Given the description of an element on the screen output the (x, y) to click on. 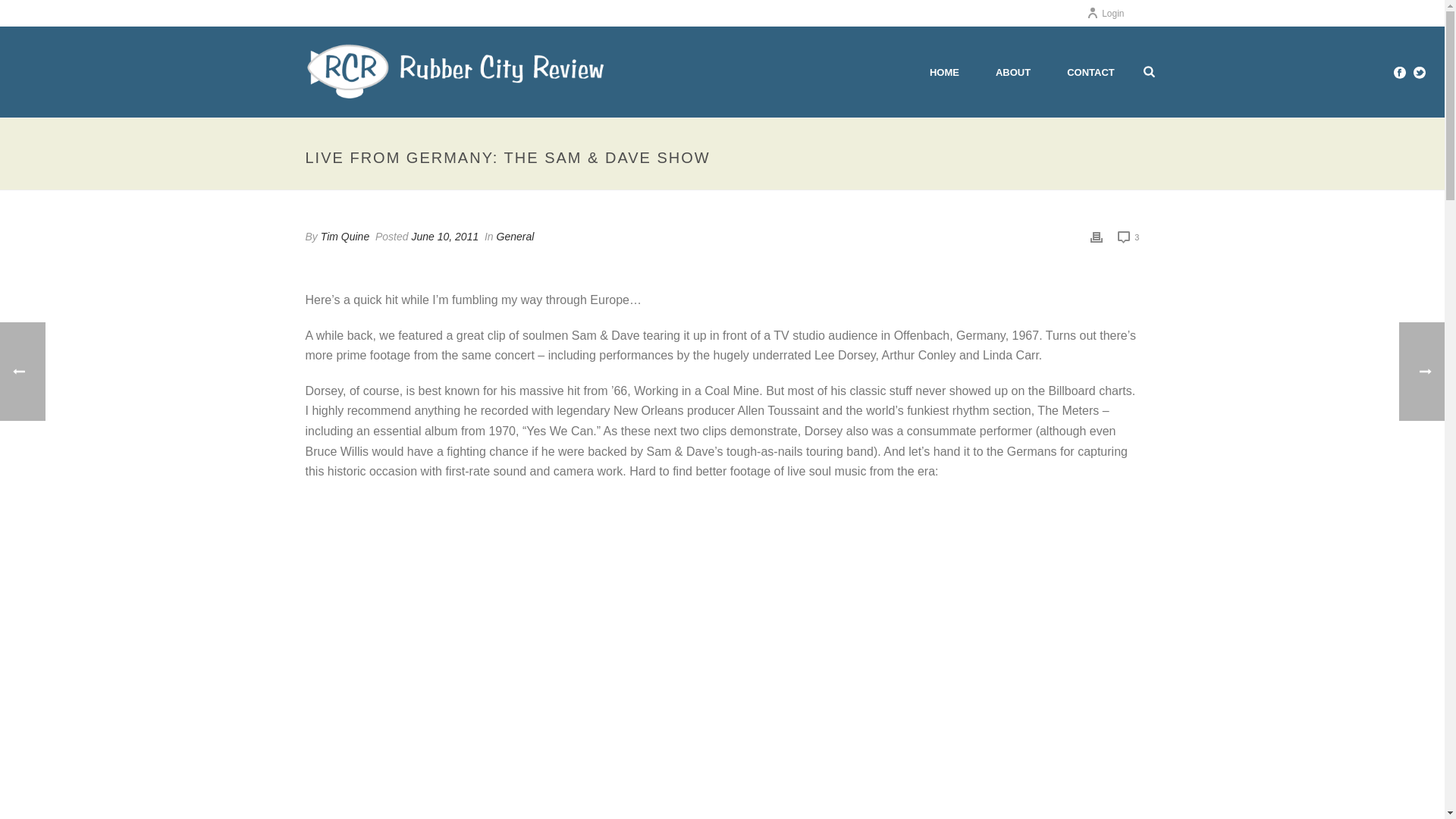
June 10, 2011 (444, 236)
Tim Quine (344, 236)
Print (1096, 236)
CONTACT (1090, 71)
ABOUT (1012, 71)
3 (1128, 237)
HOME (943, 71)
ABOUT (1012, 71)
HOME (943, 71)
Posts by Tim Quine (344, 236)
CONTACT (1090, 71)
Digital Notes from an Analog Mind (456, 71)
Login (1105, 13)
General (515, 236)
